Given the description of an element on the screen output the (x, y) to click on. 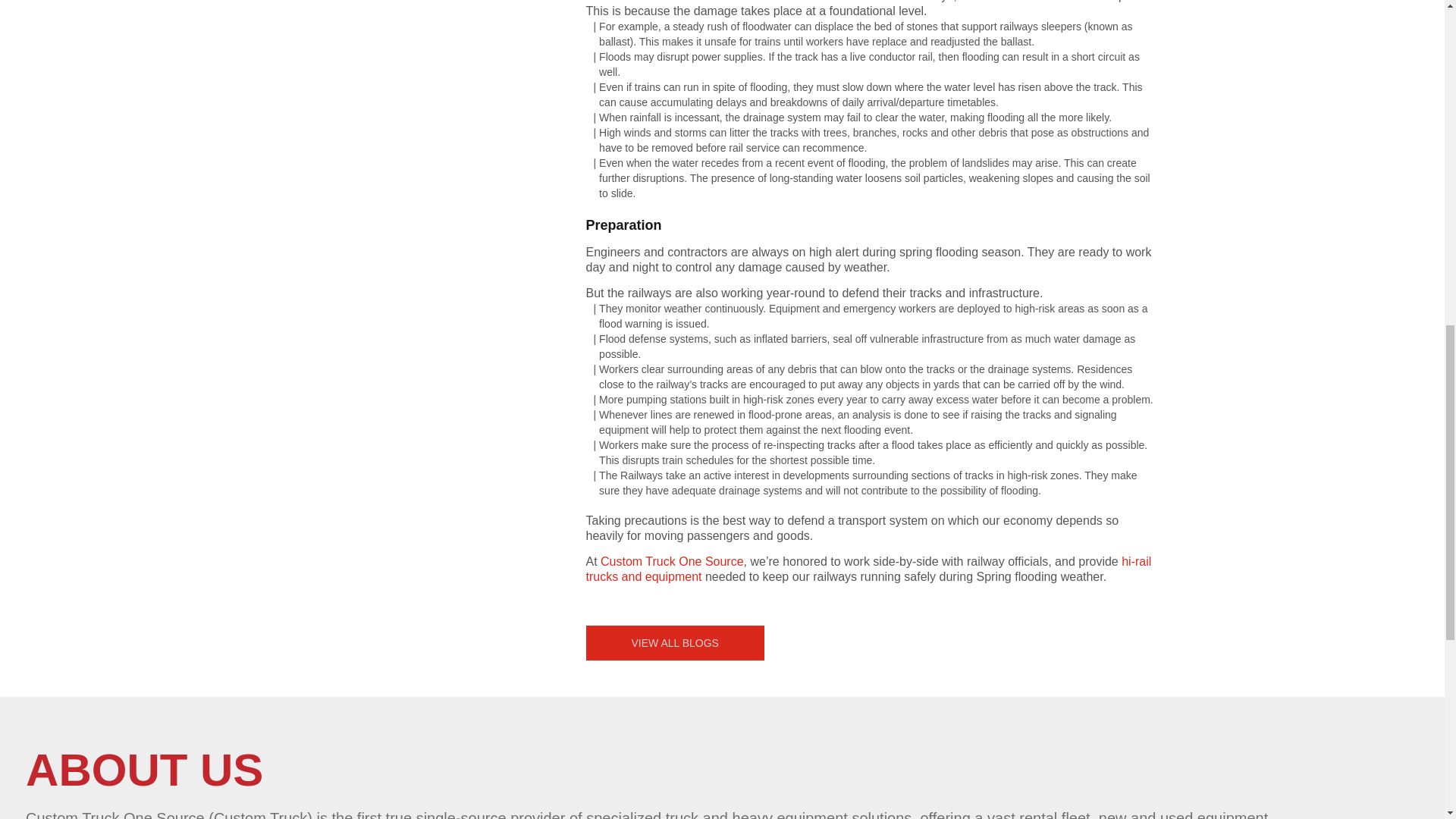
View All News (673, 642)
